Given the description of an element on the screen output the (x, y) to click on. 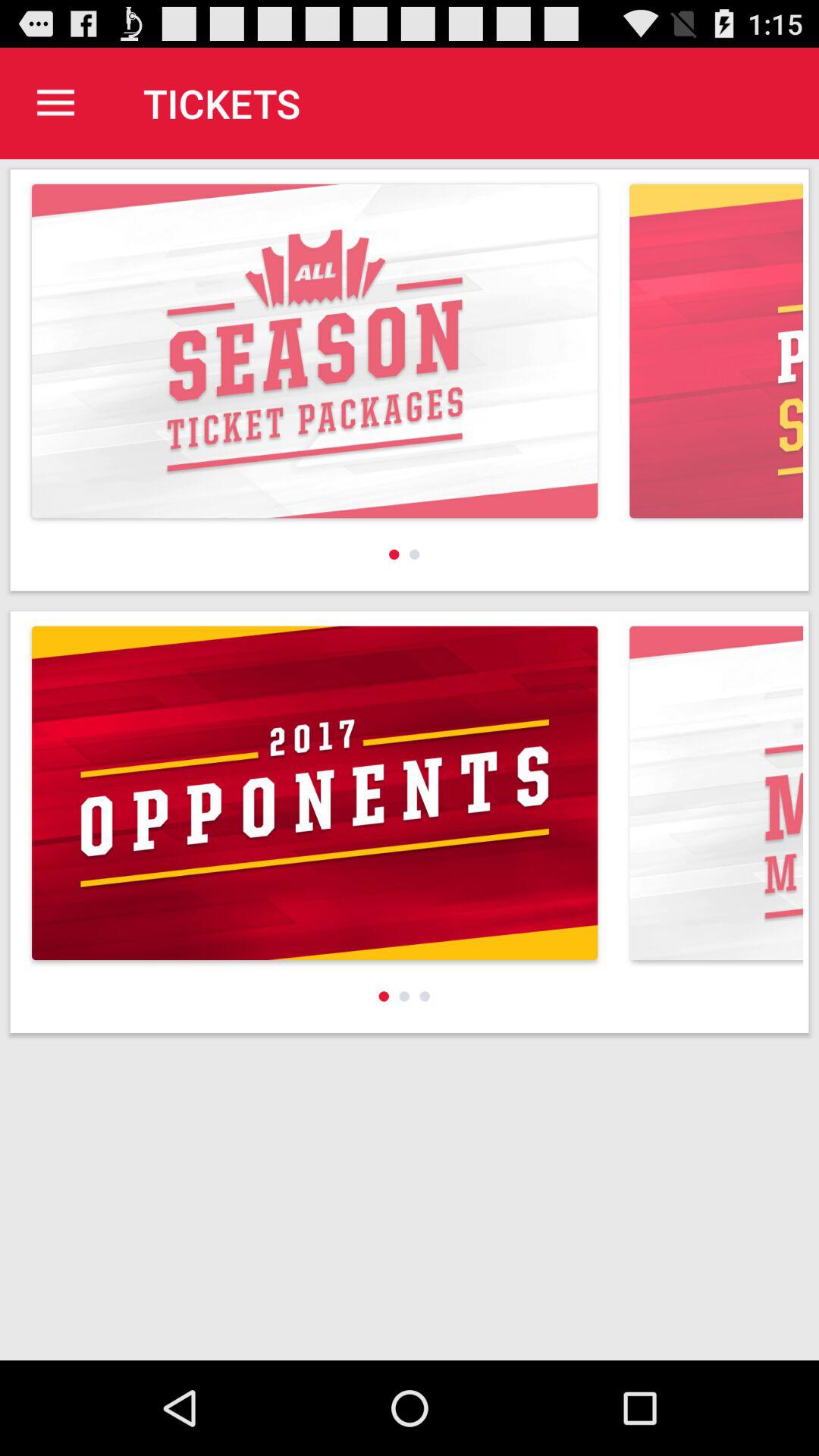
select the second image in the page (409, 821)
top right corner image (716, 351)
move to second row of first option (314, 792)
click on all season ticket packages (314, 351)
click on right corner image at bottom (713, 793)
click on first image (409, 380)
